Given the description of an element on the screen output the (x, y) to click on. 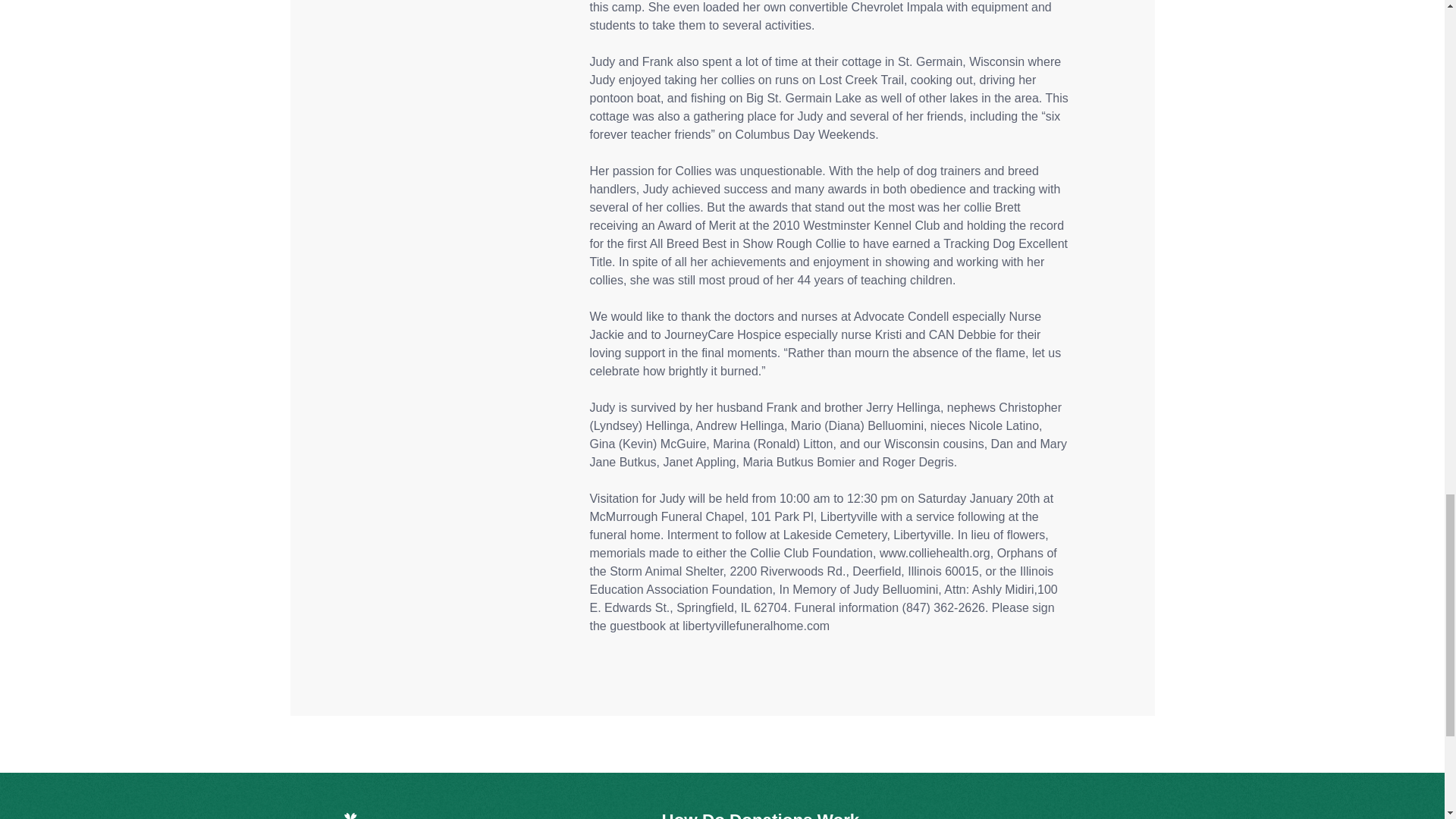
How Do Donations Work (760, 814)
